Given the description of an element on the screen output the (x, y) to click on. 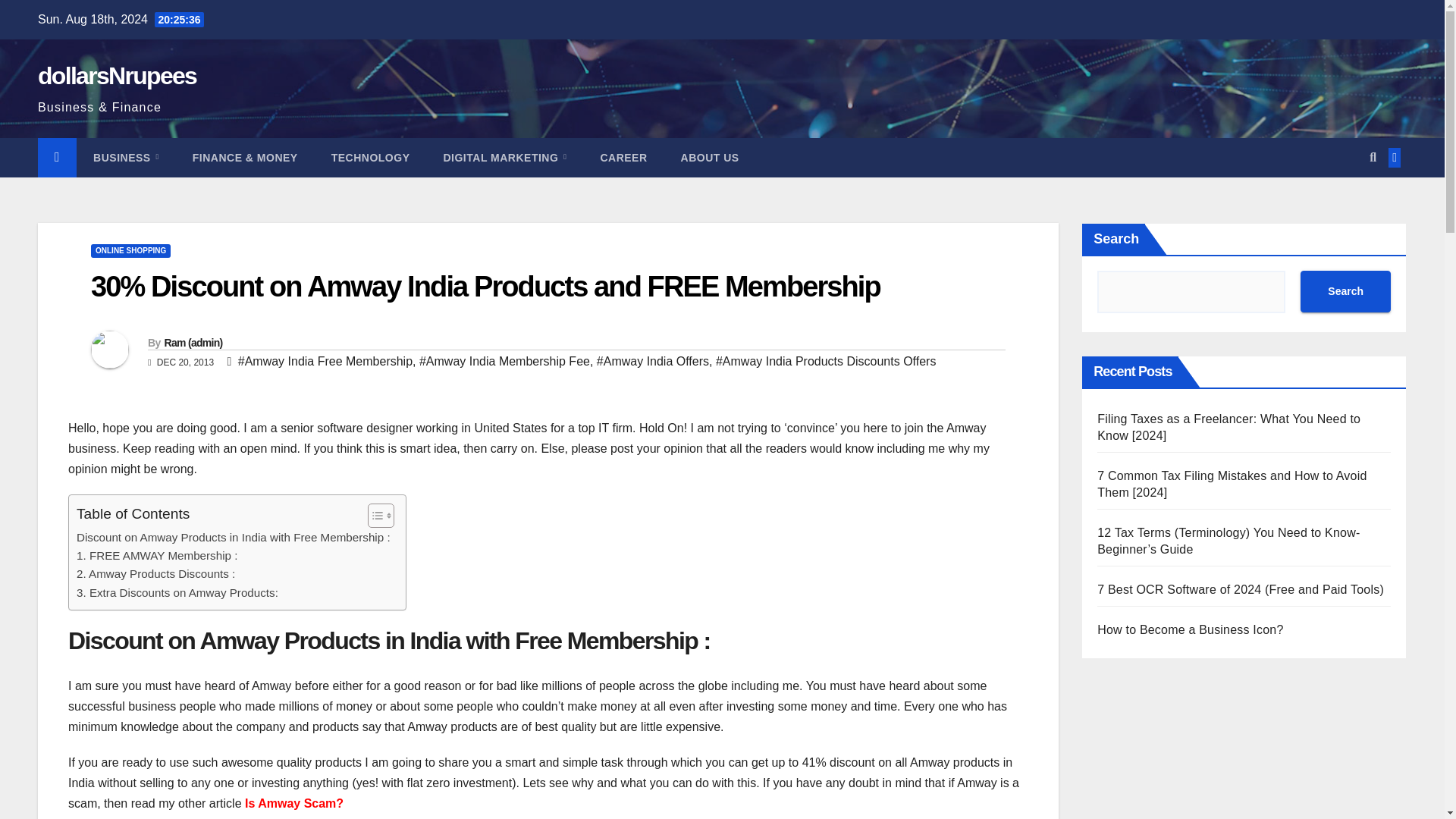
dollarsNrupees (116, 75)
Business (126, 157)
TECHNOLOGY (370, 157)
ABOUT US (709, 157)
Discount on Amway Products in India with Free Membership : (233, 537)
CAREER (623, 157)
DIGITAL MARKETING (504, 157)
1. FREE AMWAY Membership : (157, 556)
2. Amway Products Discounts : (155, 574)
3. Extra Discounts on Amway Products: (177, 592)
